Given the description of an element on the screen output the (x, y) to click on. 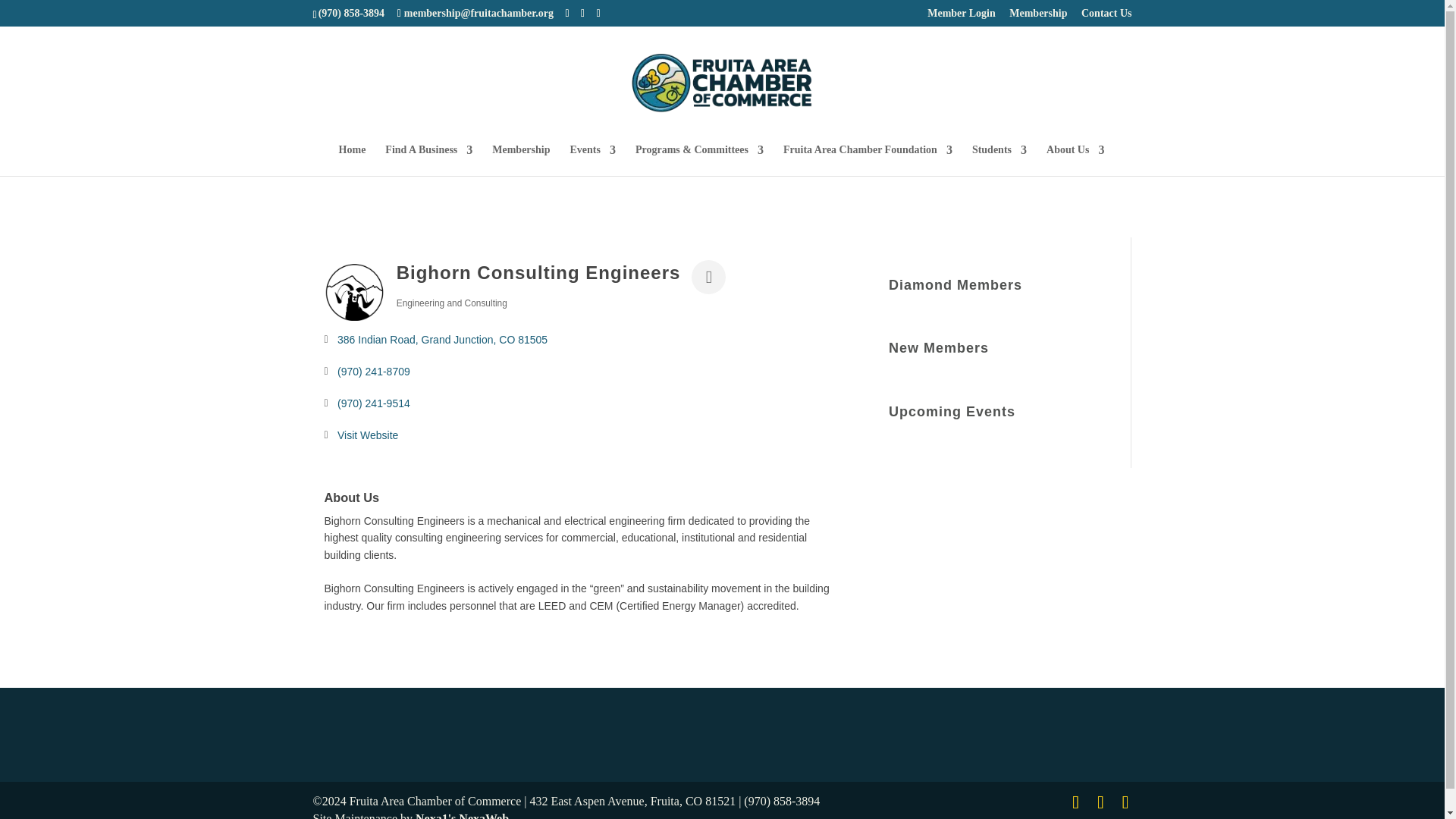
Students (999, 160)
Find A Business (428, 160)
Bighorn Consulting Engineers (354, 292)
About Us (1074, 160)
Member Login (961, 16)
Events (592, 160)
Fruita Area Chamber Foundation (867, 160)
Membership (521, 160)
Membership (1038, 16)
Contact Us (1106, 16)
